Given the description of an element on the screen output the (x, y) to click on. 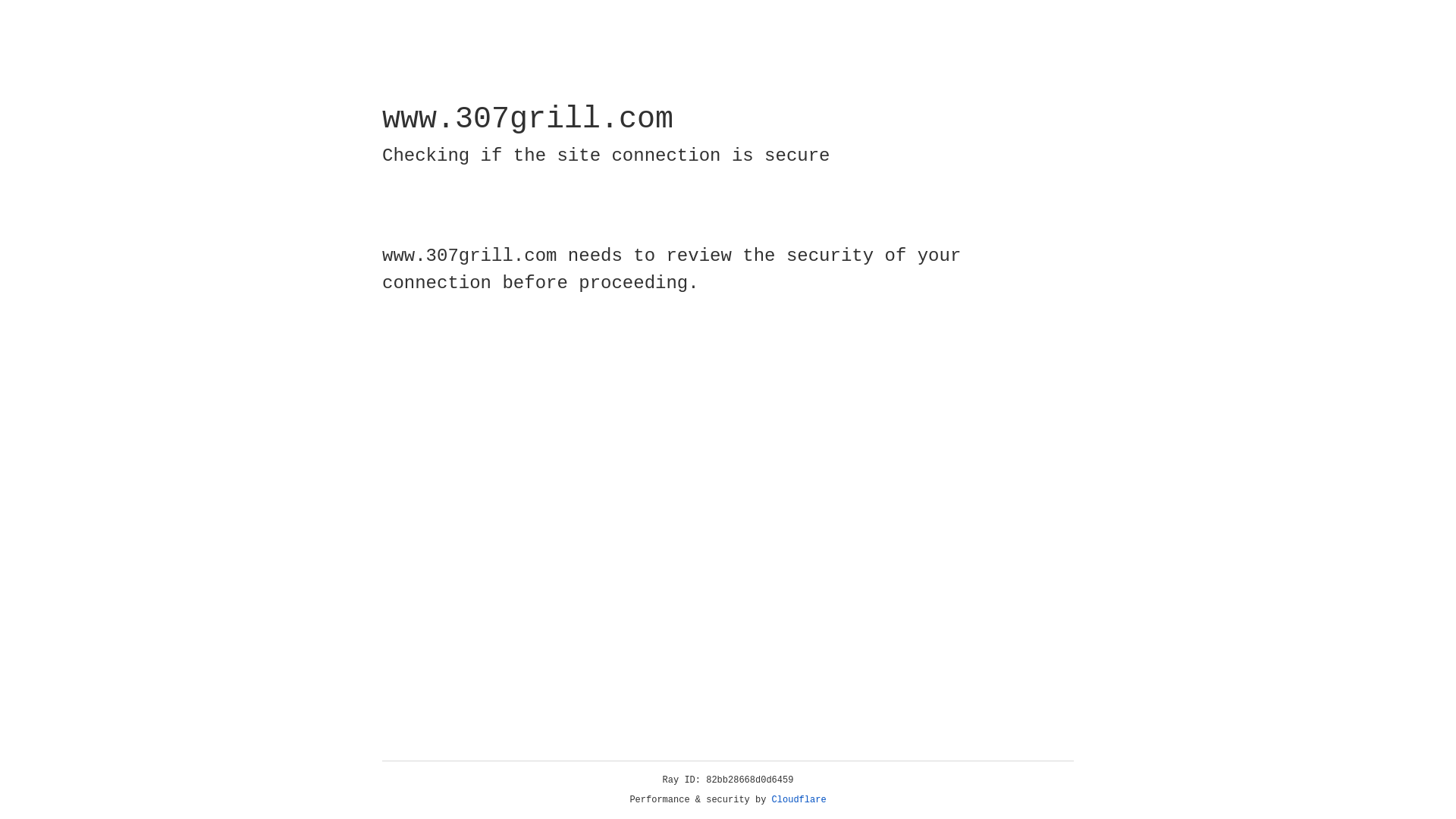
Cloudflare Element type: text (798, 799)
